Given the description of an element on the screen output the (x, y) to click on. 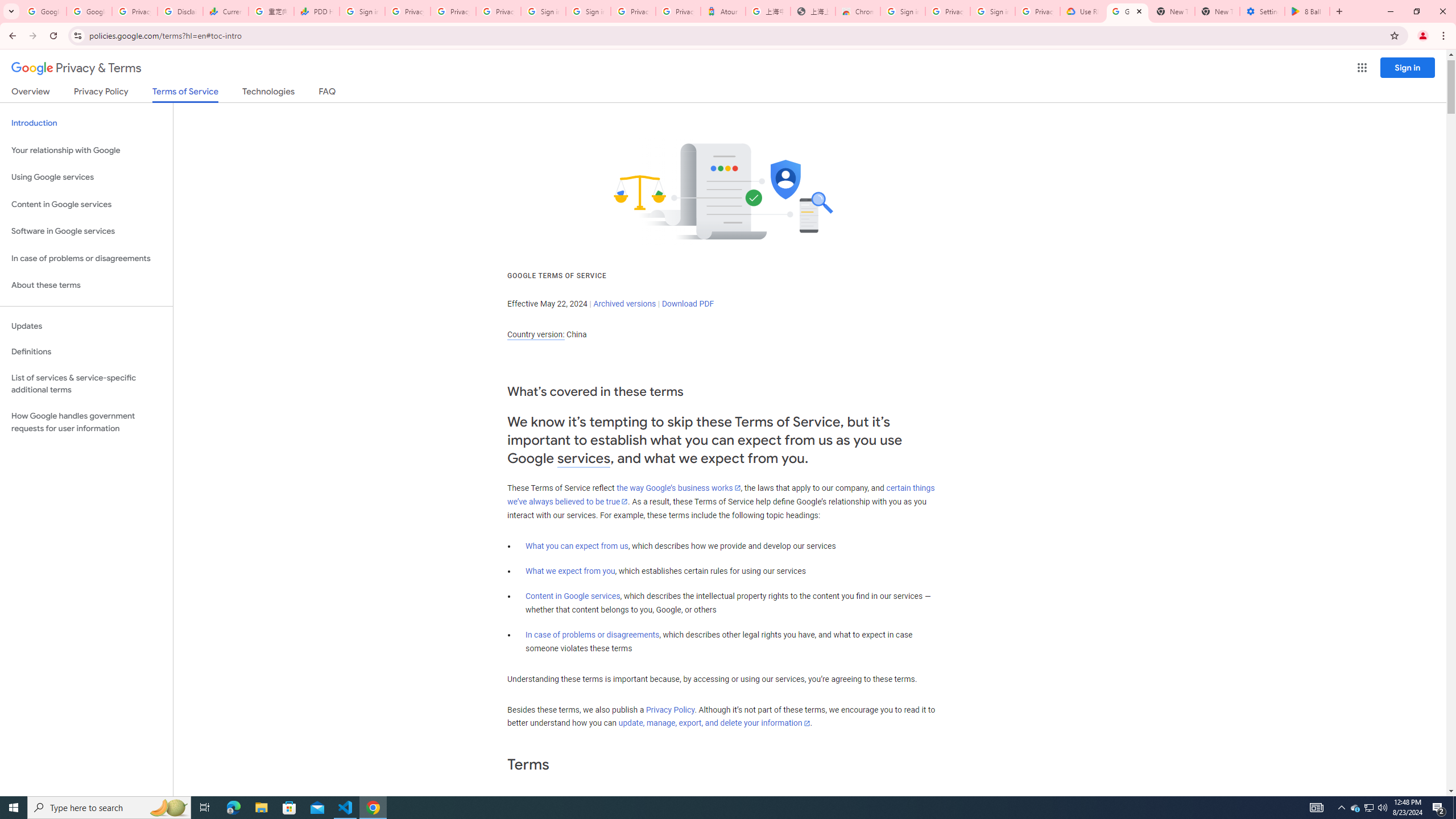
Archived versions (624, 303)
How Google handles government requests for user information (86, 422)
services (583, 458)
Definitions (86, 352)
Your relationship with Google (86, 150)
Settings - System (1262, 11)
PDD Holdings Inc - ADR (PDD) Price & News - Google Finance (316, 11)
New Tab (1216, 11)
